Given the description of an element on the screen output the (x, y) to click on. 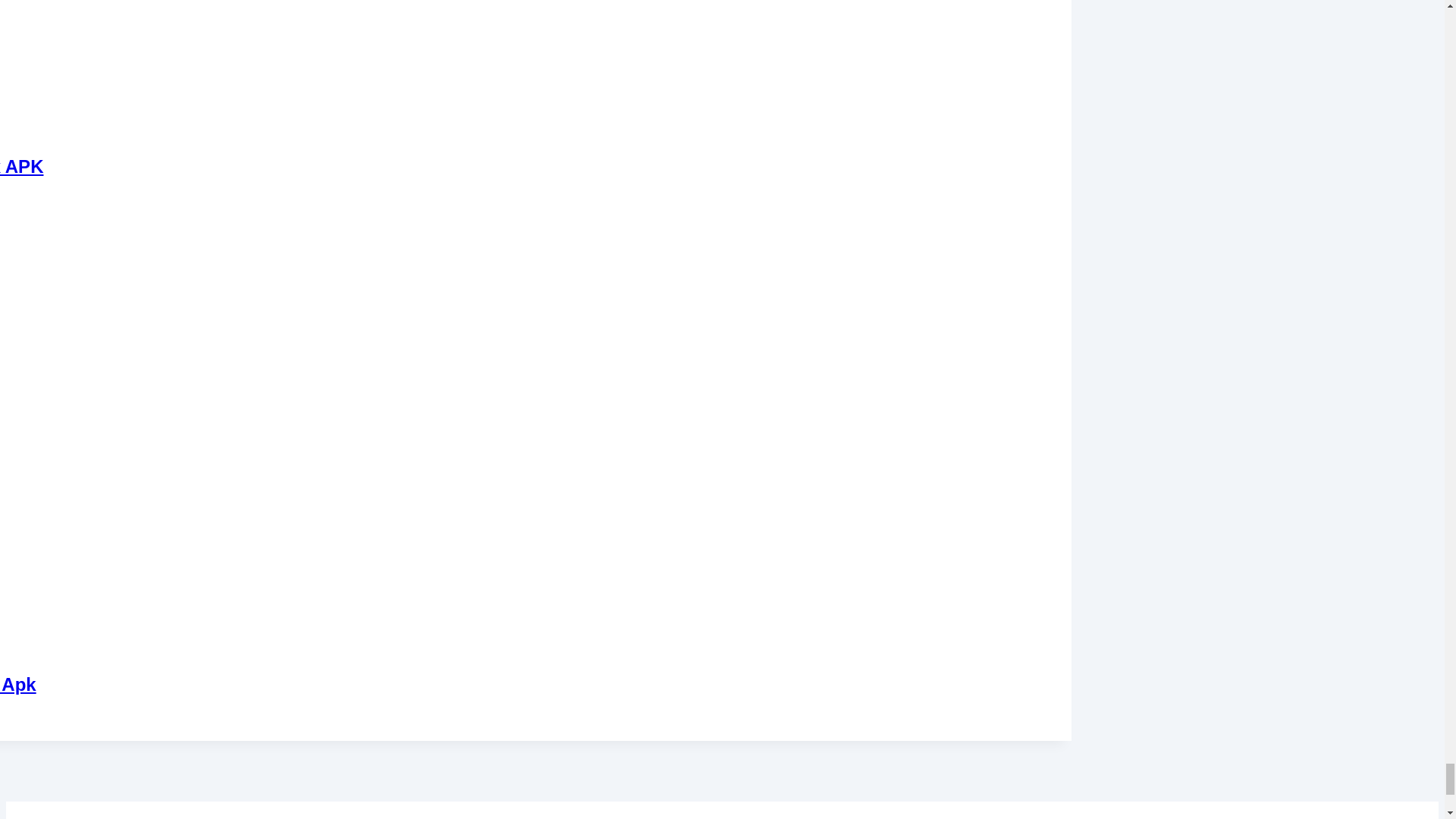
TVTap Apk (18, 684)
Momix APK (21, 166)
